Given the description of an element on the screen output the (x, y) to click on. 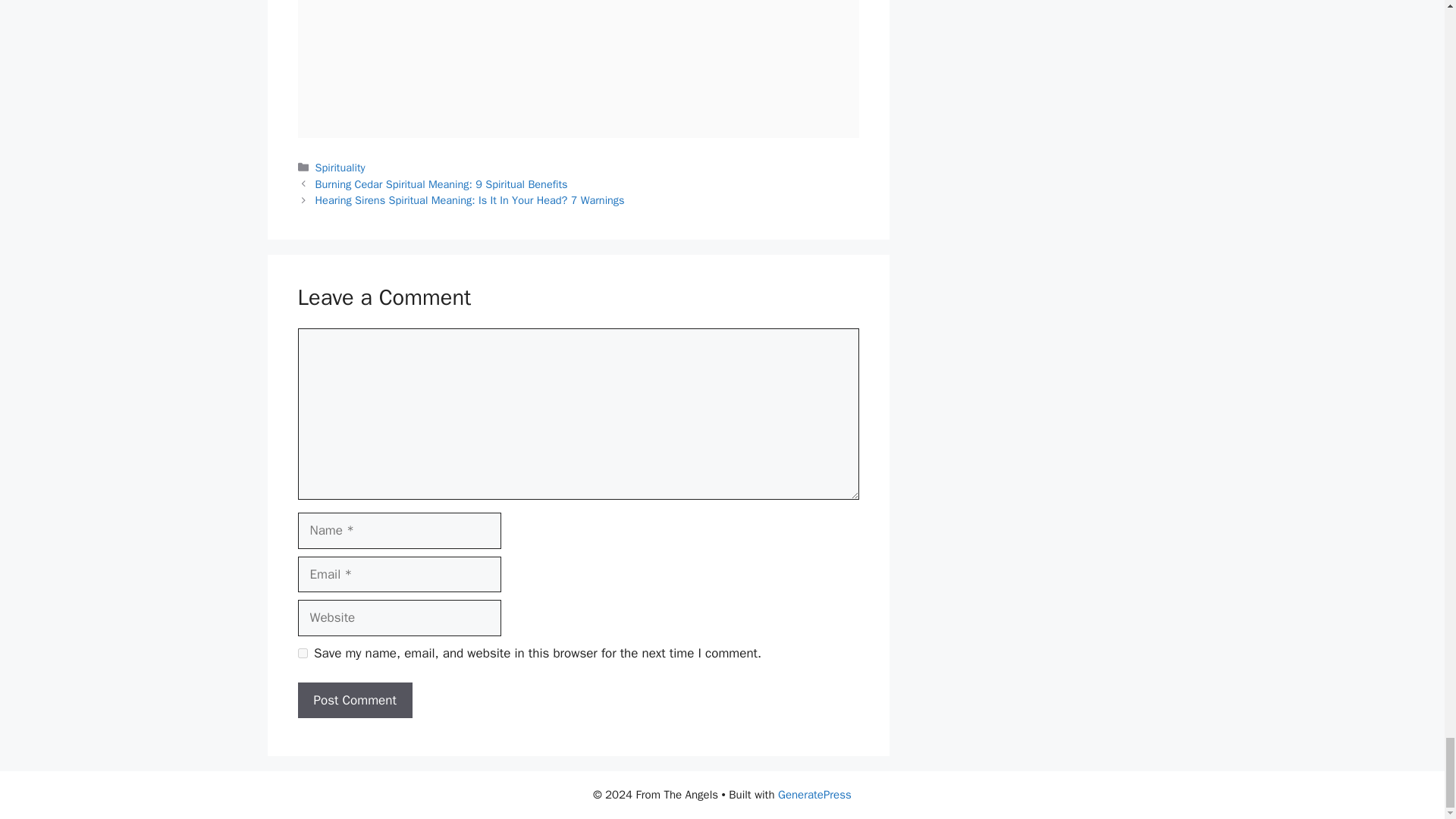
Next (469, 200)
Spirituality (340, 167)
Burning Cedar Spiritual Meaning: 9 Spiritual Benefits (441, 183)
Previous (441, 183)
GeneratePress (814, 794)
Post Comment (354, 700)
yes (302, 653)
Post Comment (354, 700)
